Given the description of an element on the screen output the (x, y) to click on. 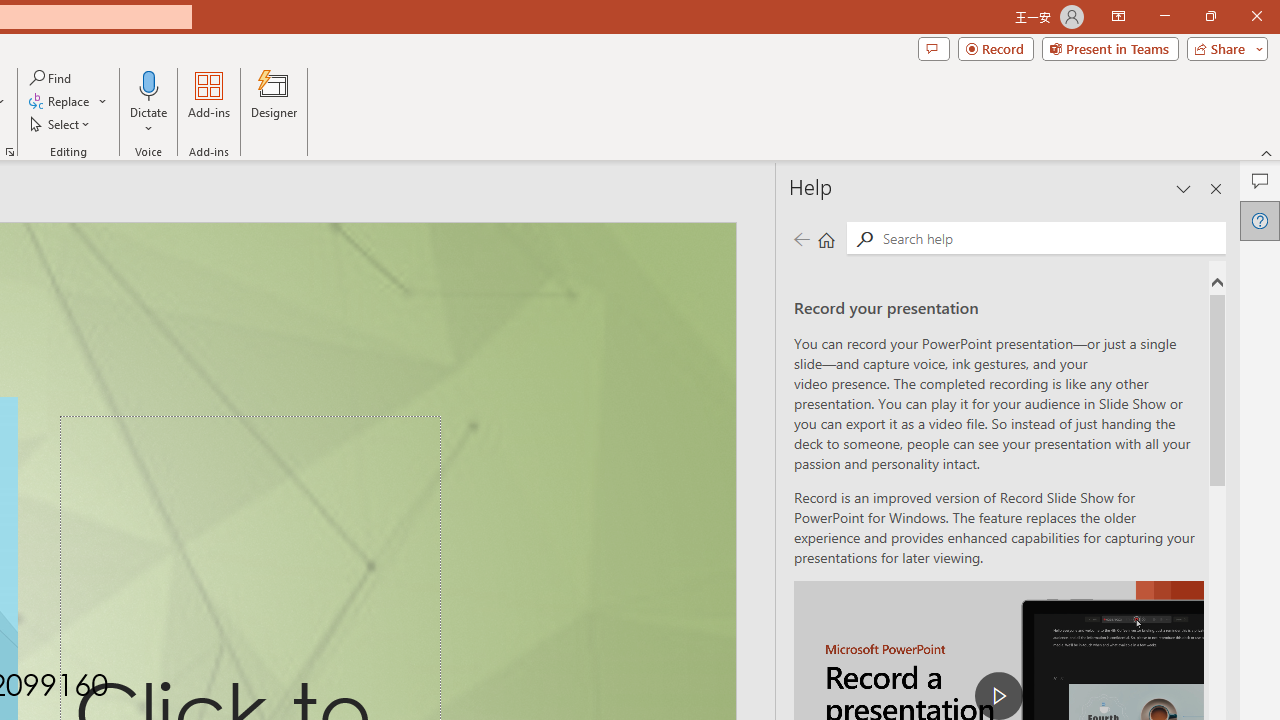
Designer (274, 102)
Dictate (149, 102)
play Record a Presentation (998, 695)
Search (1049, 237)
Find... (51, 78)
Format Object... (9, 151)
Collapse the Ribbon (1267, 152)
Task Pane Options (1183, 188)
Dictate (149, 84)
Restore Down (1210, 16)
Close pane (1215, 188)
Replace... (60, 101)
